Given the description of an element on the screen output the (x, y) to click on. 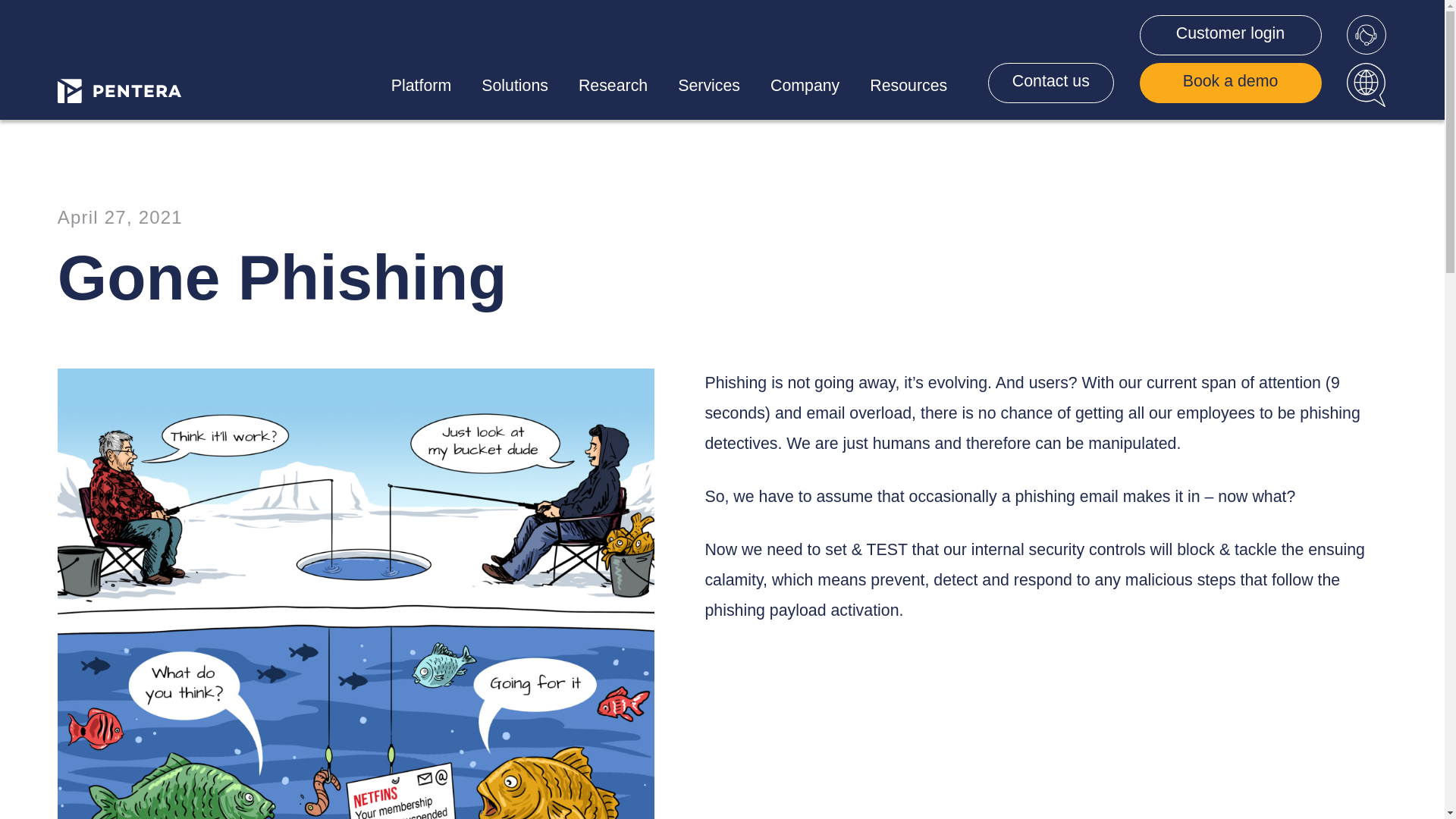
Support (1366, 34)
Platform (420, 85)
Company (805, 85)
Book a demo (1229, 83)
Research (613, 85)
Resources (909, 85)
Customer login (1229, 35)
Solutions (514, 85)
Services (708, 85)
Contact us (1051, 83)
